Given the description of an element on the screen output the (x, y) to click on. 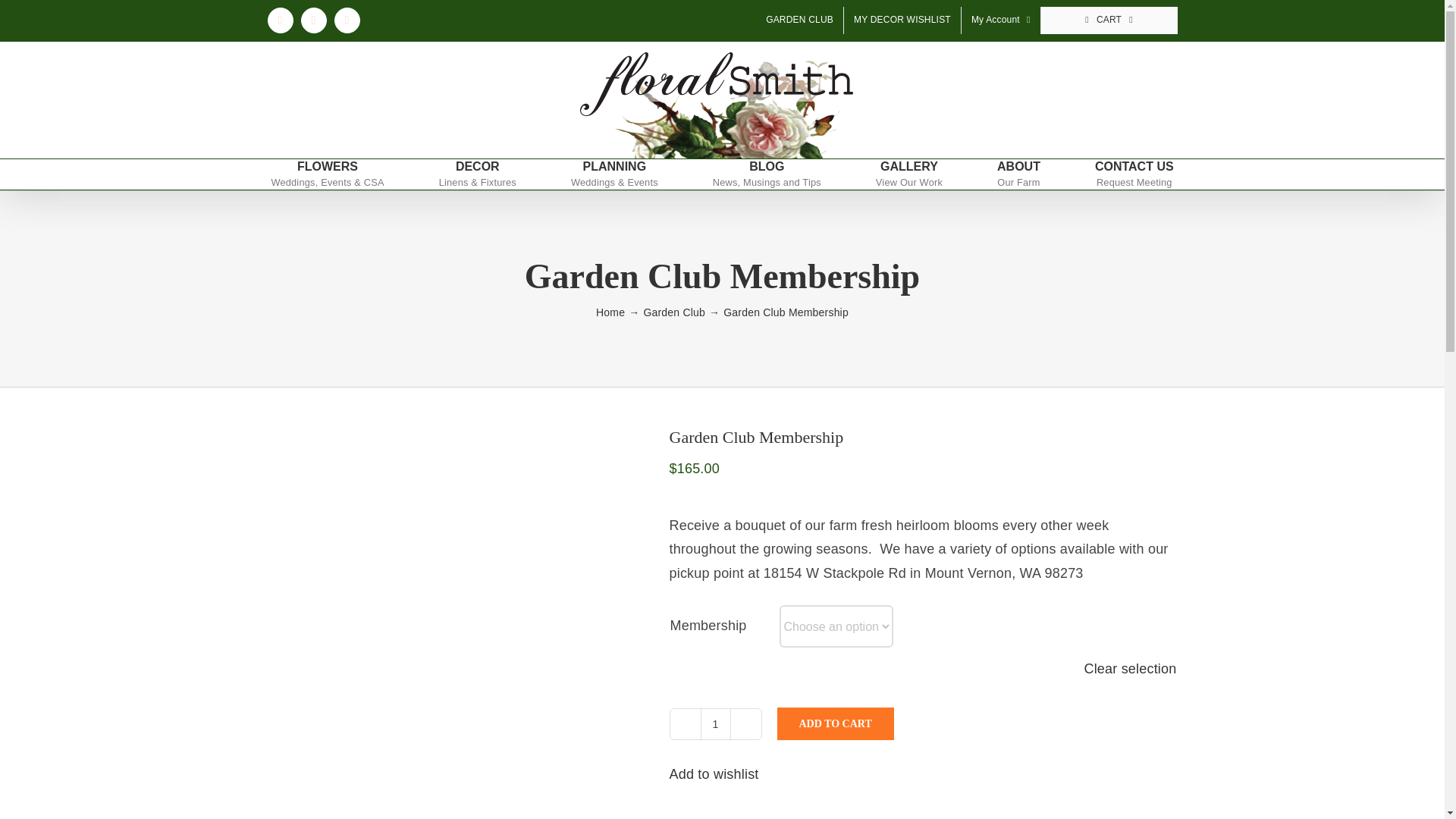
Home (609, 312)
1 (715, 723)
Facebook (279, 20)
Instagram (312, 20)
Log In (1050, 186)
CART (1108, 20)
Qty (715, 723)
ADD TO CART (834, 723)
Facebook (279, 20)
Garden Club (673, 312)
